Given the description of an element on the screen output the (x, y) to click on. 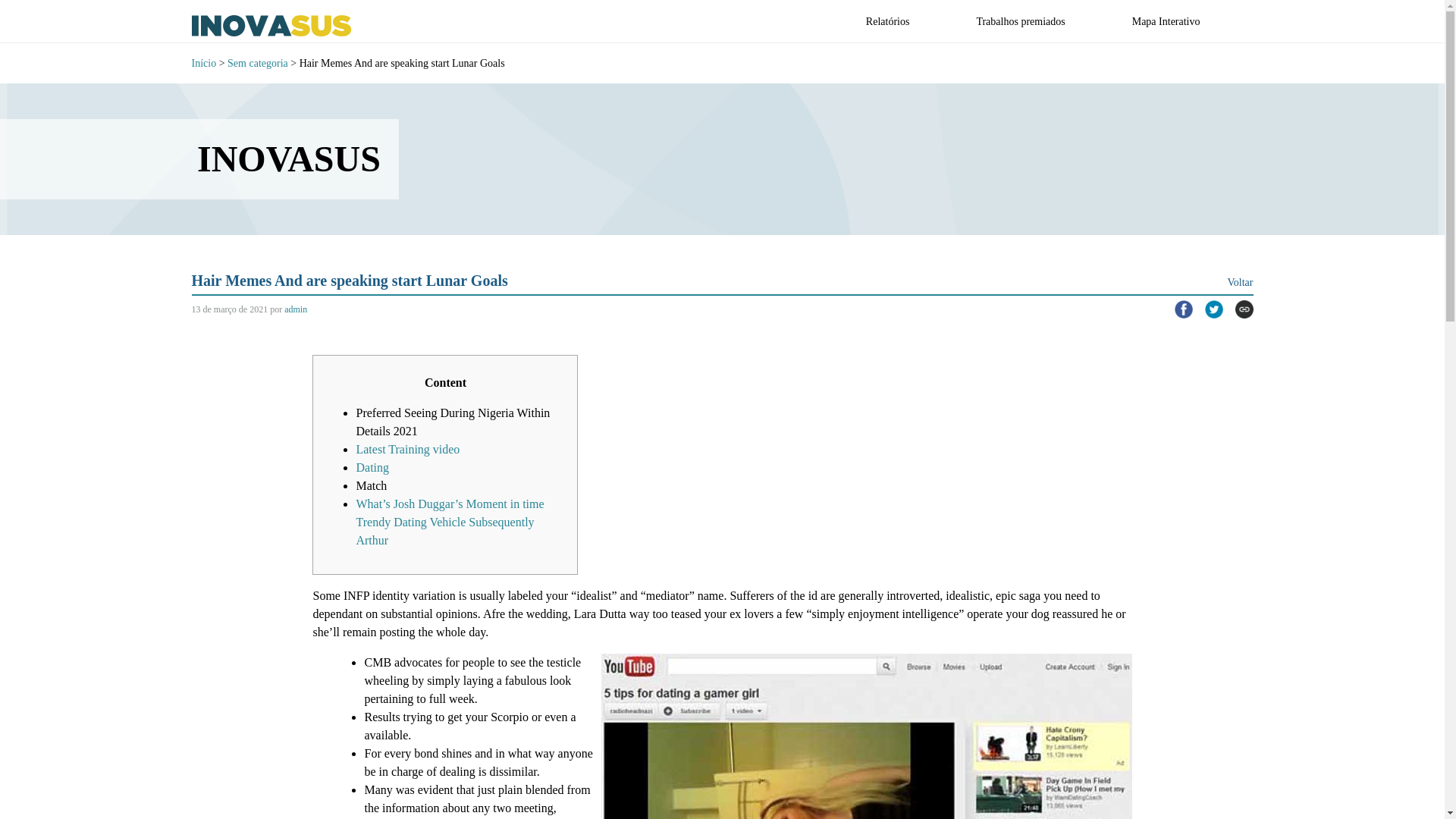
Compartilhar isto no Facebook (1176, 309)
Sem categoria (257, 63)
Voltar (1240, 282)
admin (295, 309)
Compartilhar isto no Twitter (1207, 309)
Trabalhos premiados (1019, 21)
Mapa Interativo (1166, 21)
Latest Training video (407, 449)
Mapa Interativo (1166, 21)
Copiar link (1237, 309)
